Given the description of an element on the screen output the (x, y) to click on. 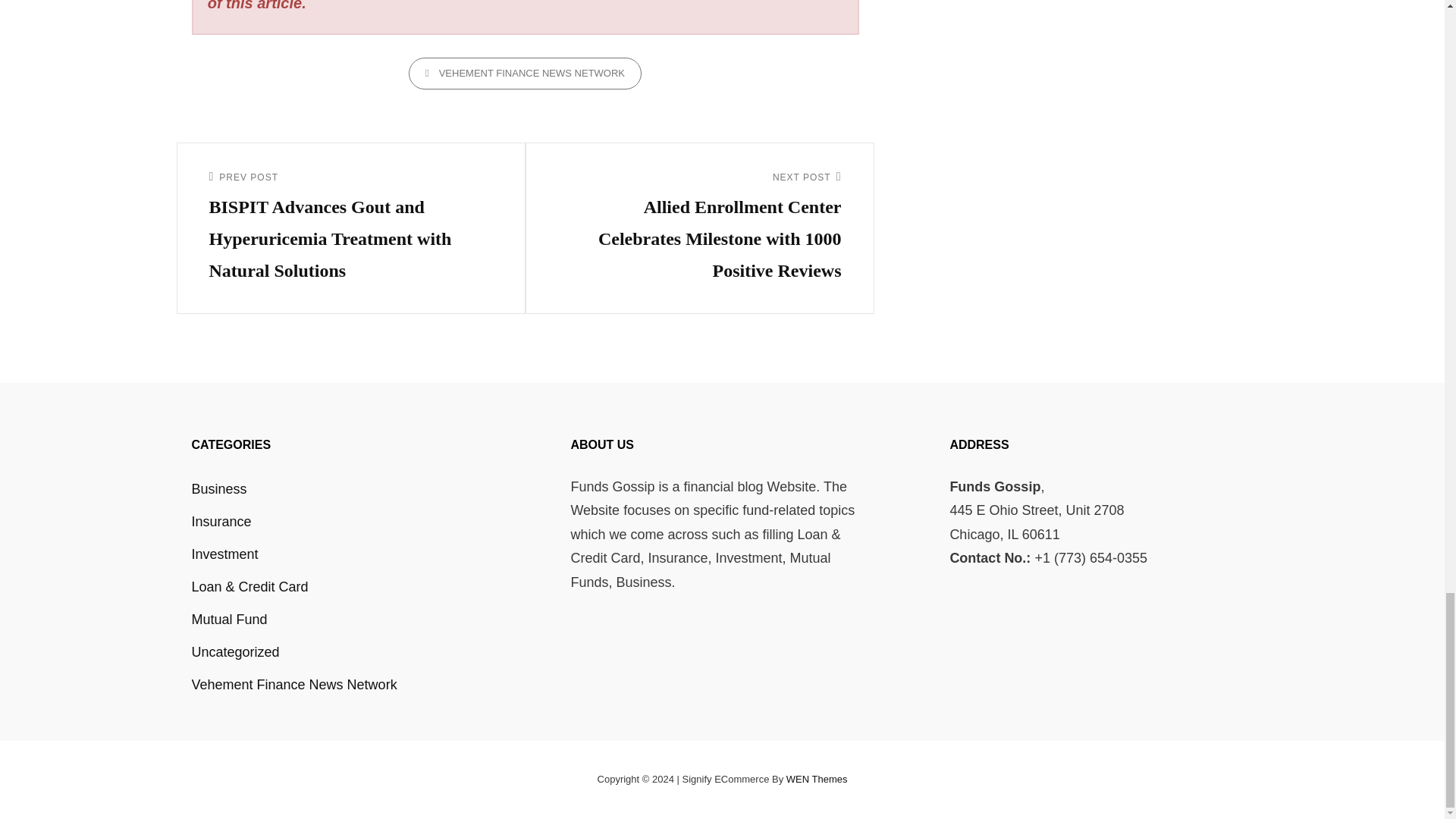
Business (218, 488)
VEHEMENT FINANCE NEWS NETWORK (525, 73)
Insurance (220, 521)
Investment (223, 554)
